Given the description of an element on the screen output the (x, y) to click on. 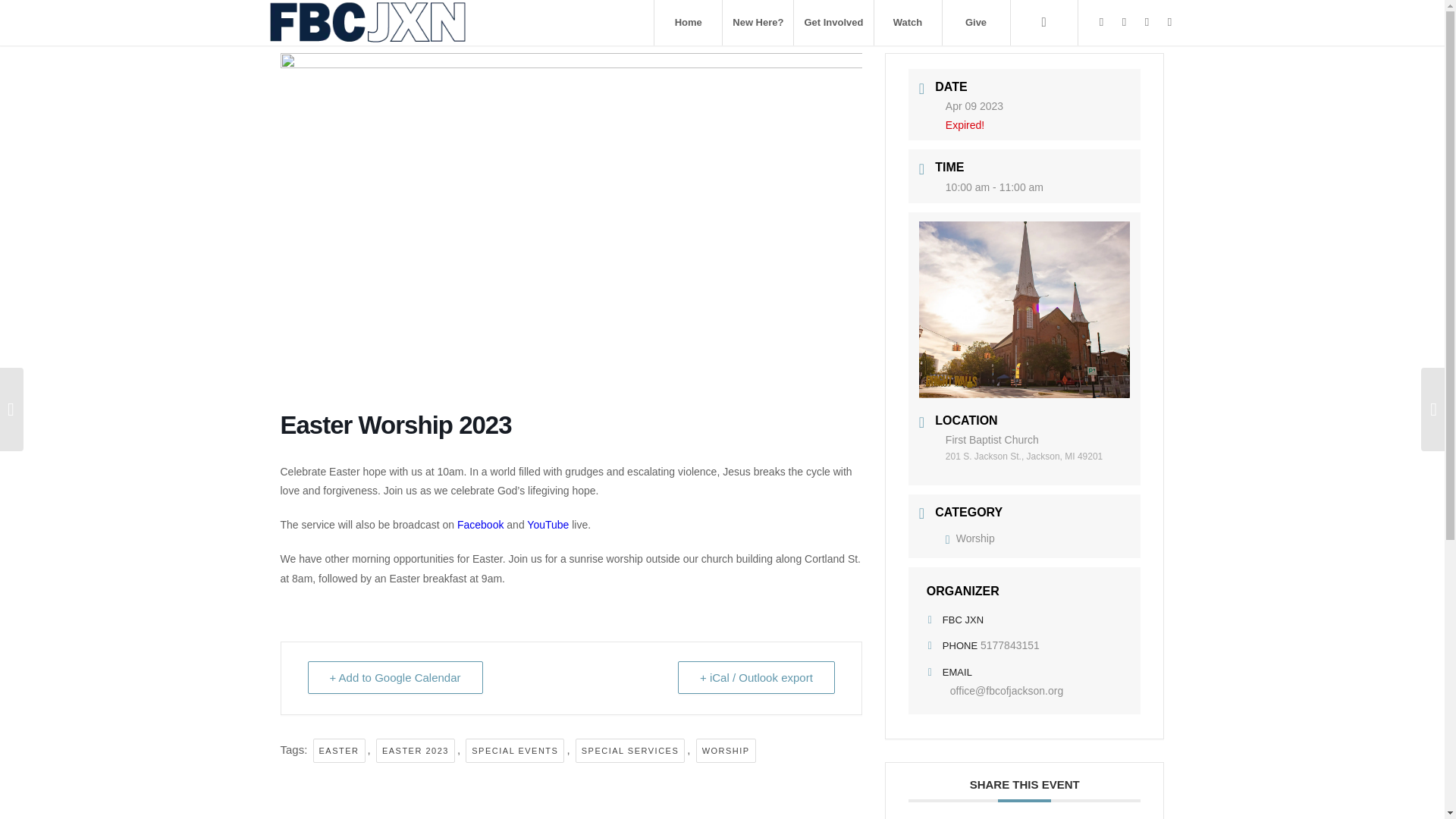
5177843151 (1009, 645)
Youtube (1146, 21)
New Here? (757, 22)
EASTER (339, 750)
SPECIAL SERVICES (630, 750)
Give (976, 22)
Facebook (1101, 21)
Worship (969, 538)
WORSHIP (725, 750)
Watch (907, 22)
